Given the description of an element on the screen output the (x, y) to click on. 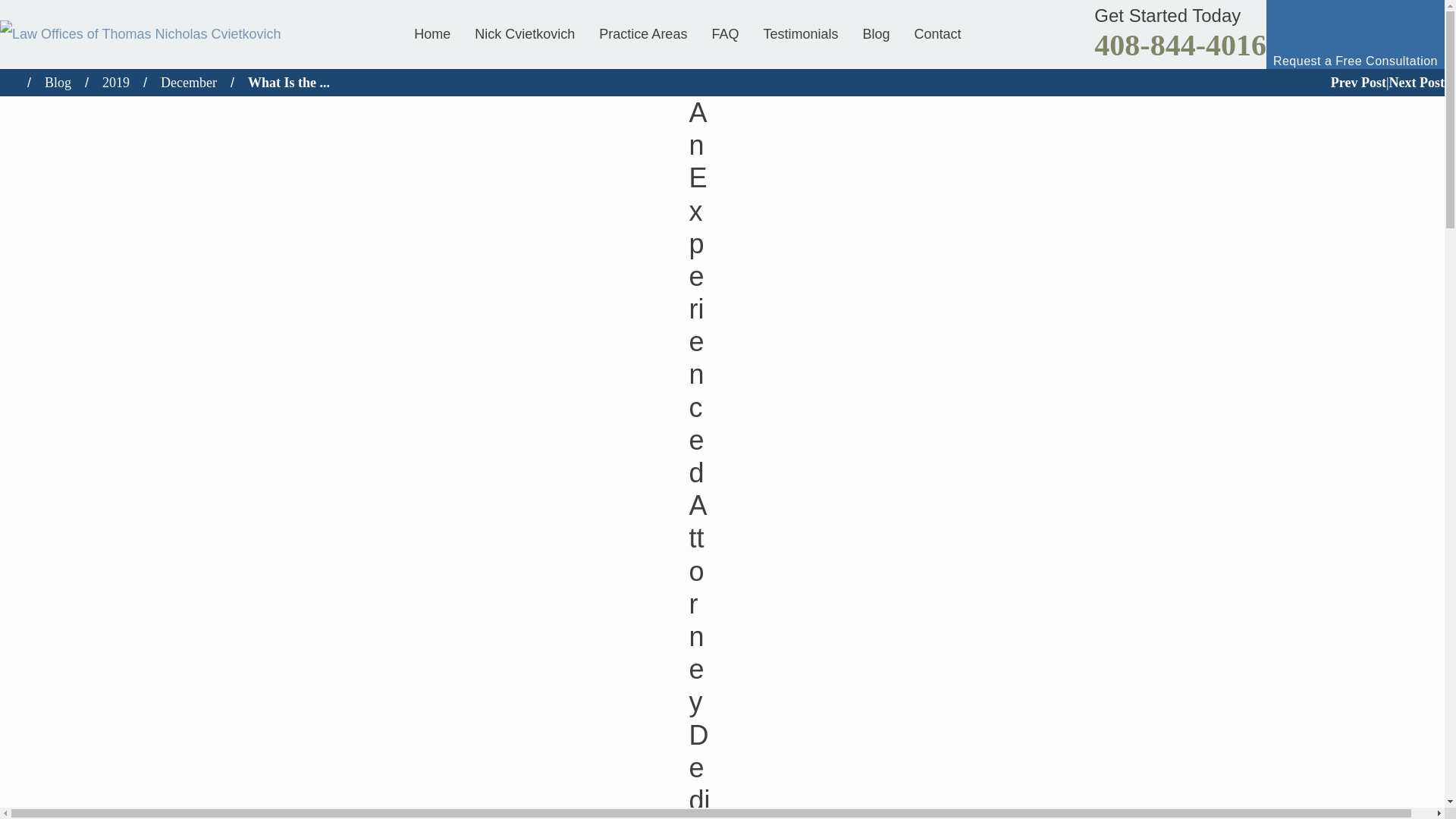
Go Home (13, 82)
Blog (875, 33)
FAQ (724, 33)
Nick Cvietkovich (524, 33)
Practice Areas (642, 33)
Home (438, 33)
Testimonials (800, 33)
Open the accessibility options menu (1412, 774)
Law Offices of Thomas Nicholas Cvietkovich (140, 33)
